Given the description of an element on the screen output the (x, y) to click on. 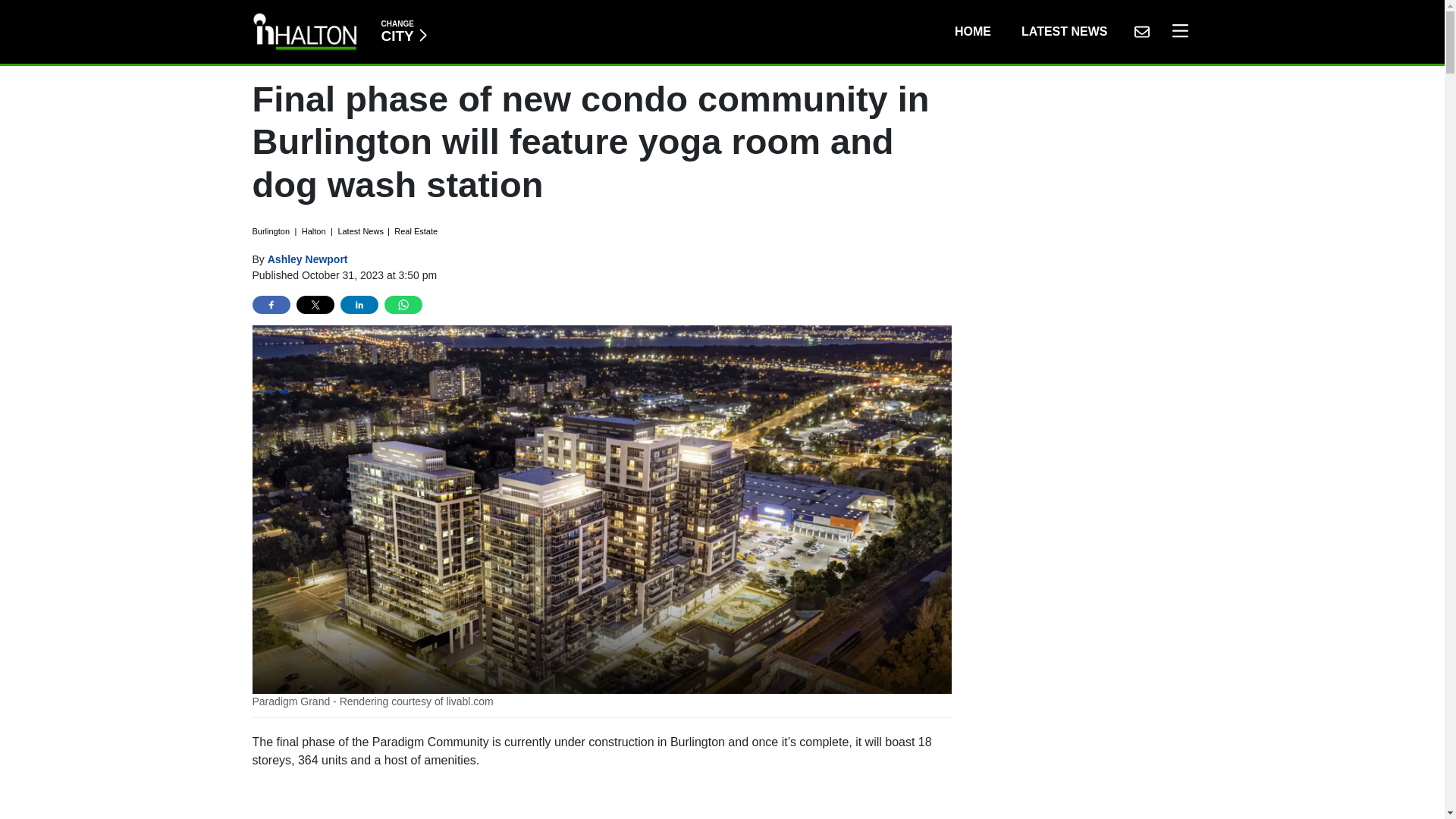
Posts by 201 (307, 259)
LATEST NEWS (402, 31)
3rd party ad content (1064, 31)
SIGN UP FOR OUR NEWSLETTER (601, 800)
HOME (1141, 31)
OPEN MENU (972, 31)
